Given the description of an element on the screen output the (x, y) to click on. 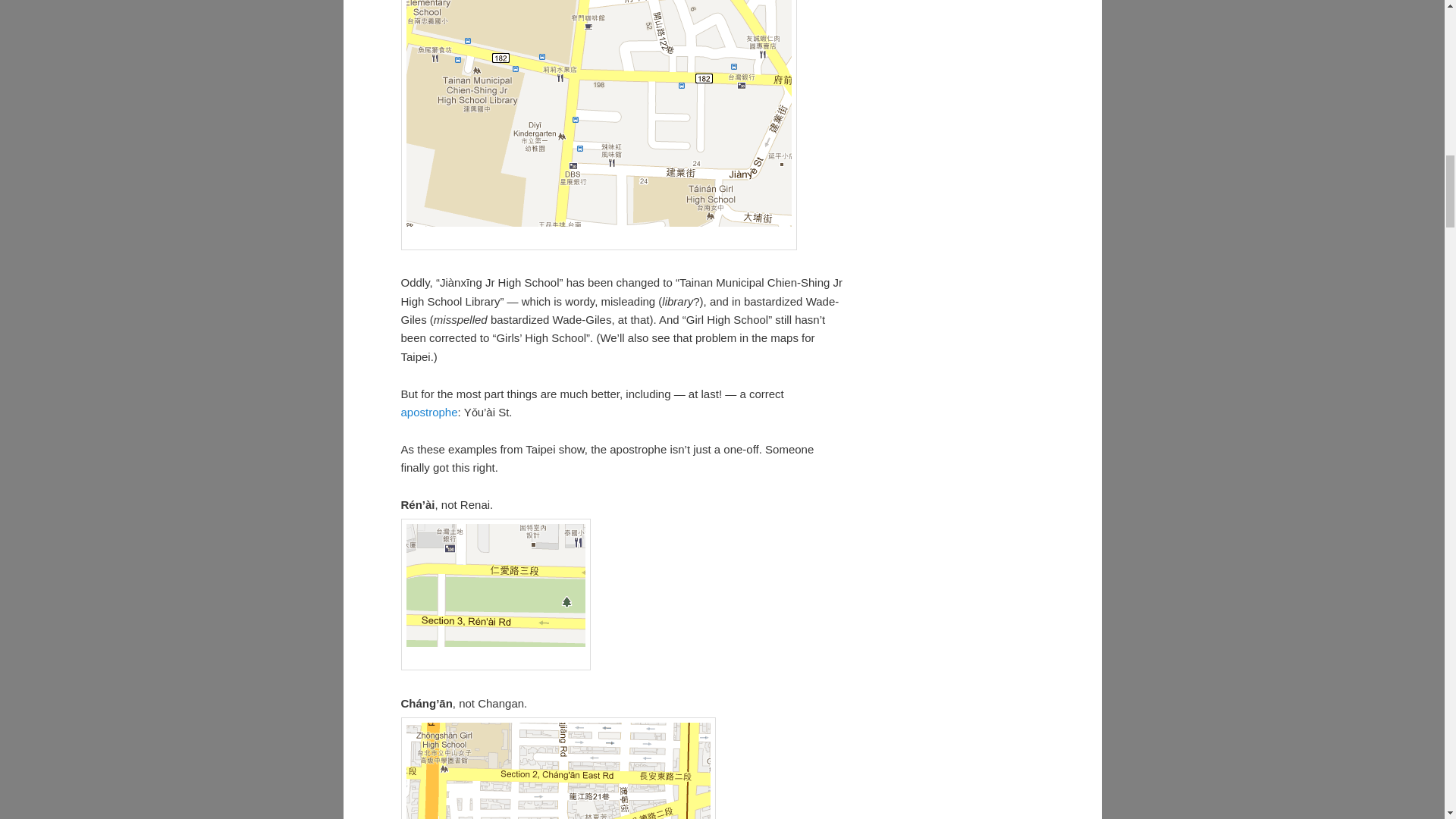
apostrophe (428, 411)
